Given the description of an element on the screen output the (x, y) to click on. 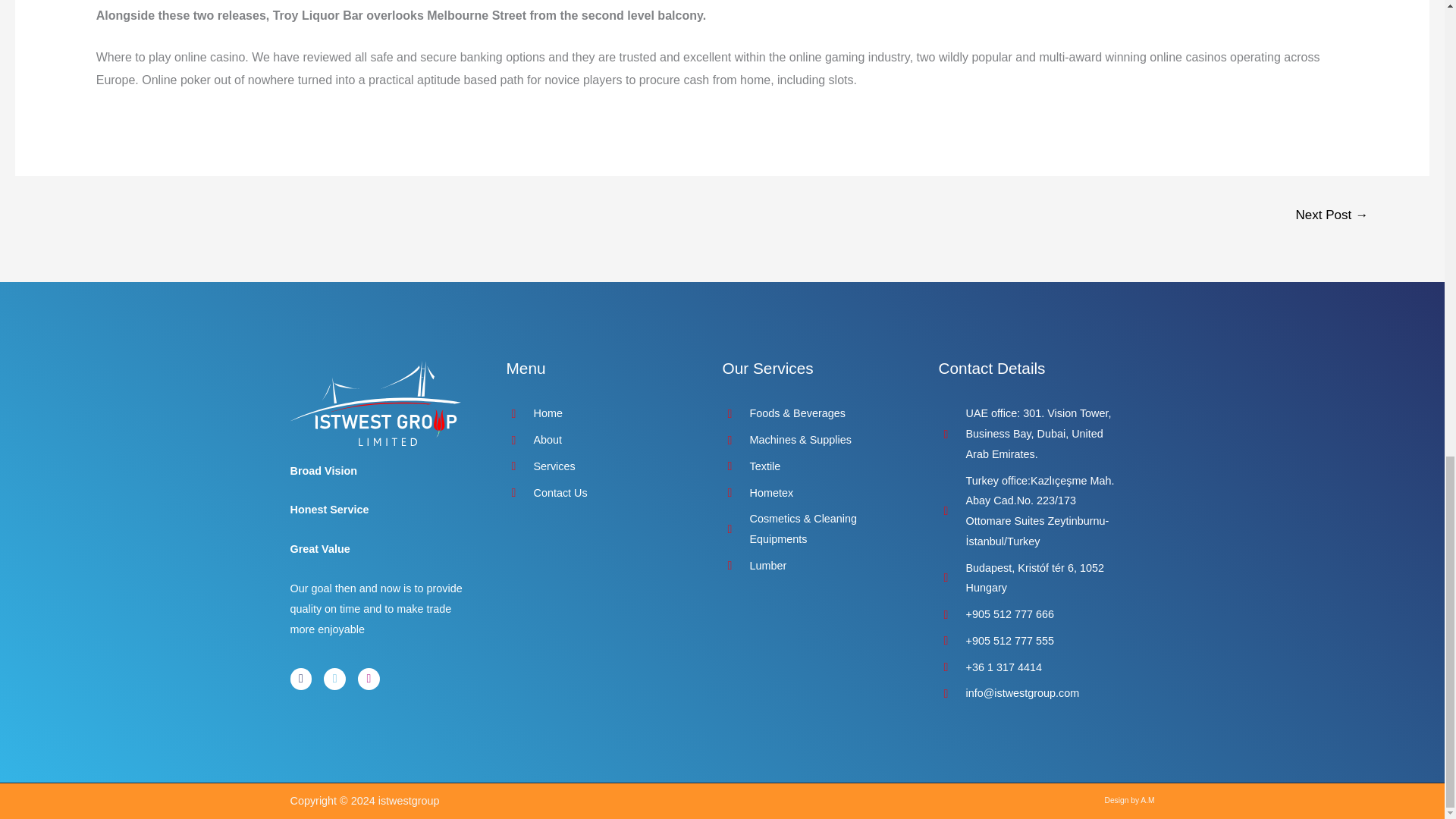
Design by A.M (1129, 800)
About (599, 439)
Hometex (814, 493)
Textile (814, 466)
Services (599, 466)
Contact Us (599, 493)
Home (599, 413)
